Given the description of an element on the screen output the (x, y) to click on. 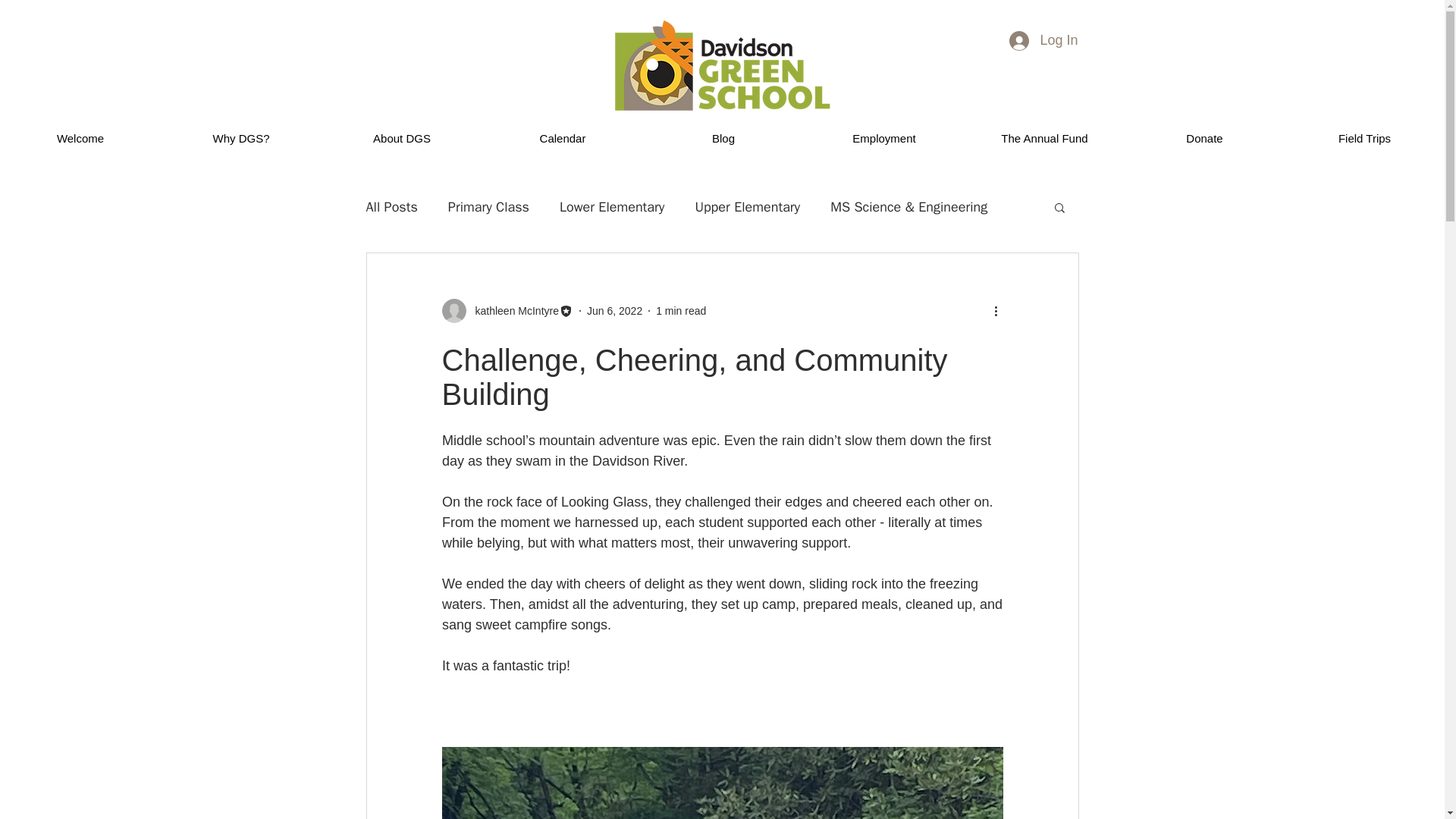
1 min read (681, 310)
kathleen McIntyre (512, 311)
The Annual Fund (1043, 138)
Employment (883, 138)
Why DGS? (240, 138)
kathleen McIntyre (507, 310)
Blog (723, 138)
Calendar (562, 138)
Primary Class (488, 207)
Log In (1042, 39)
Welcome (80, 138)
About DGS (401, 138)
All Posts (390, 207)
Lower Elementary (611, 207)
Donate (1204, 138)
